Given the description of an element on the screen output the (x, y) to click on. 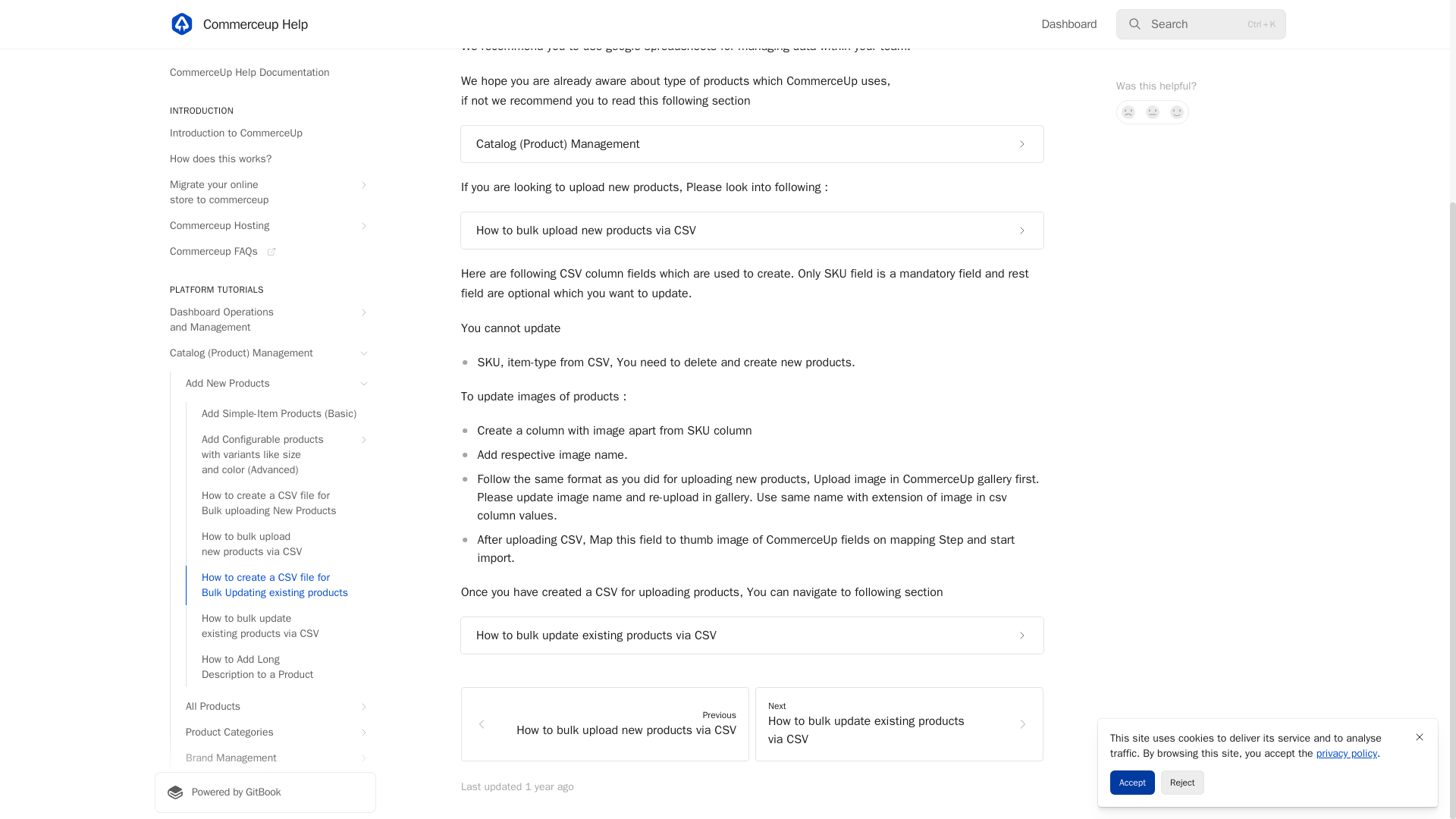
How to create a CSV file for Bulk uploading New Products (280, 234)
How to create a CSV file for Bulk Updating existing products (280, 316)
Add New Products (272, 115)
All Products (272, 437)
Product Categories (272, 463)
How to bulk update existing products via CSV (280, 357)
Dashboard Operations and Management (264, 51)
How to Add Long Description to a Product (280, 398)
Close (1419, 468)
How to bulk upload new products via CSV (280, 275)
